Given the description of an element on the screen output the (x, y) to click on. 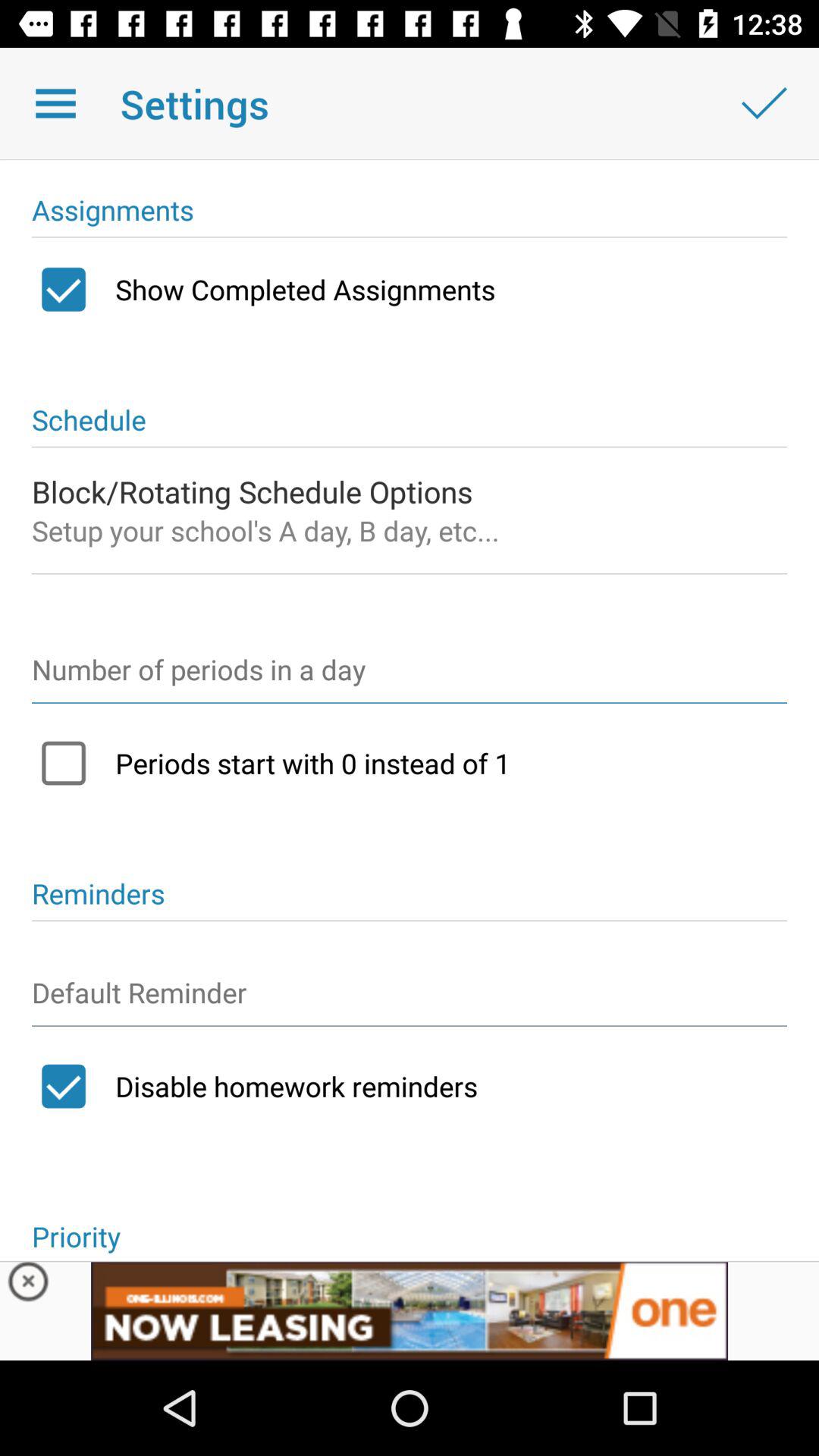
go to the advertising website (409, 1310)
